Given the description of an element on the screen output the (x, y) to click on. 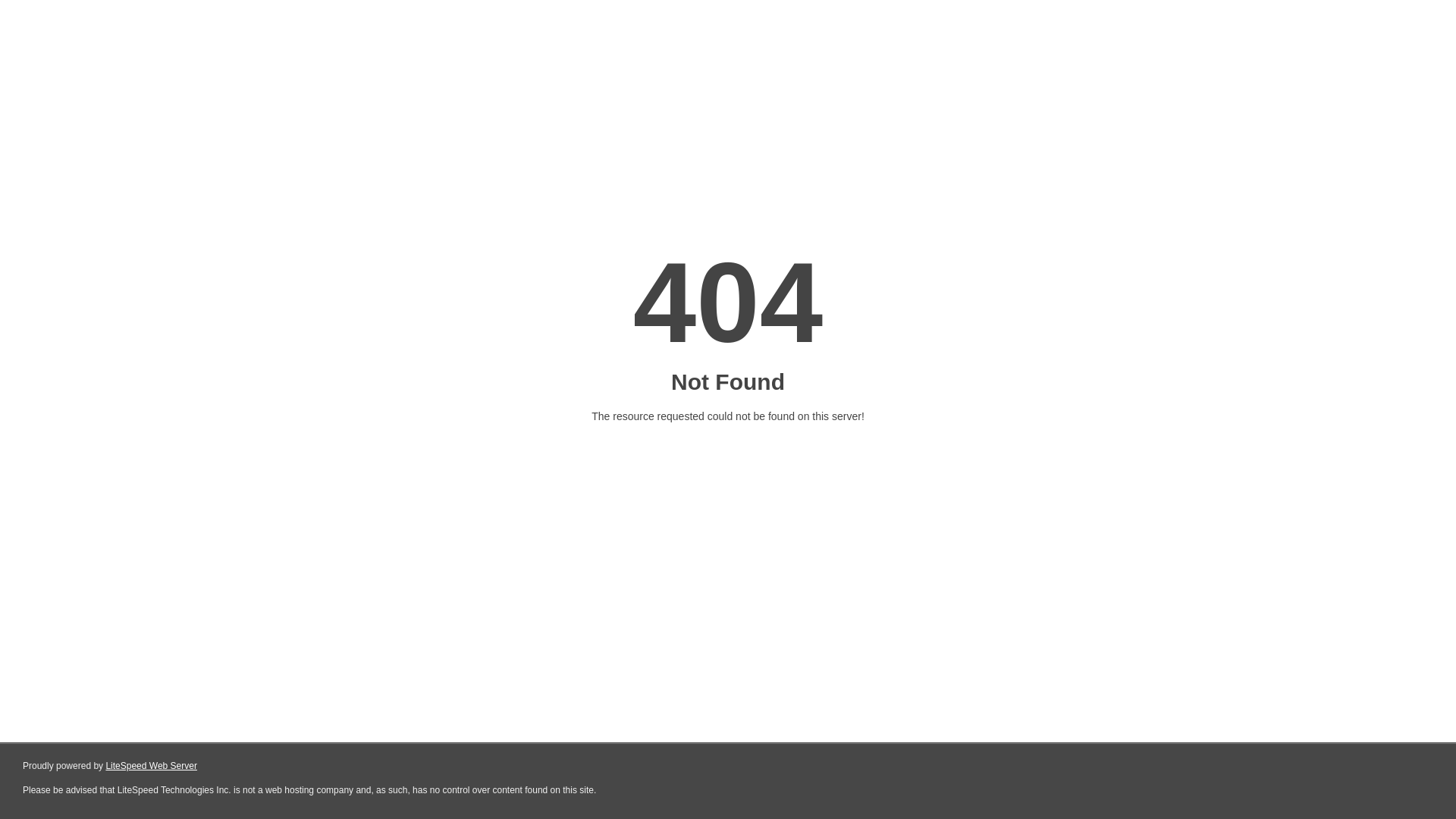
LiteSpeed Web Server Element type: text (151, 765)
